Given the description of an element on the screen output the (x, y) to click on. 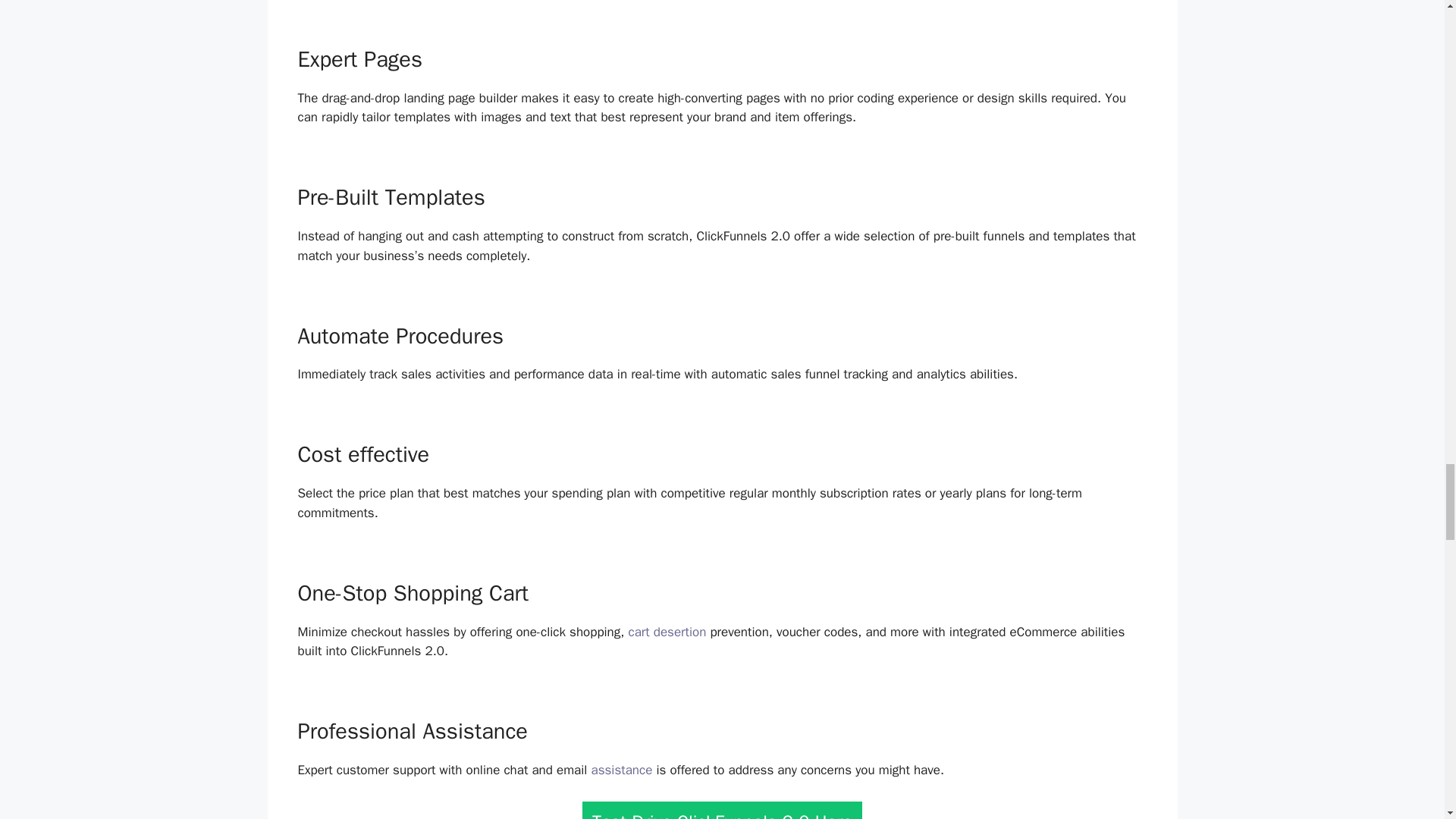
Test Drive ClickFunnels 2.0 Here (721, 810)
cart desertion (666, 631)
assistance (621, 770)
